Given the description of an element on the screen output the (x, y) to click on. 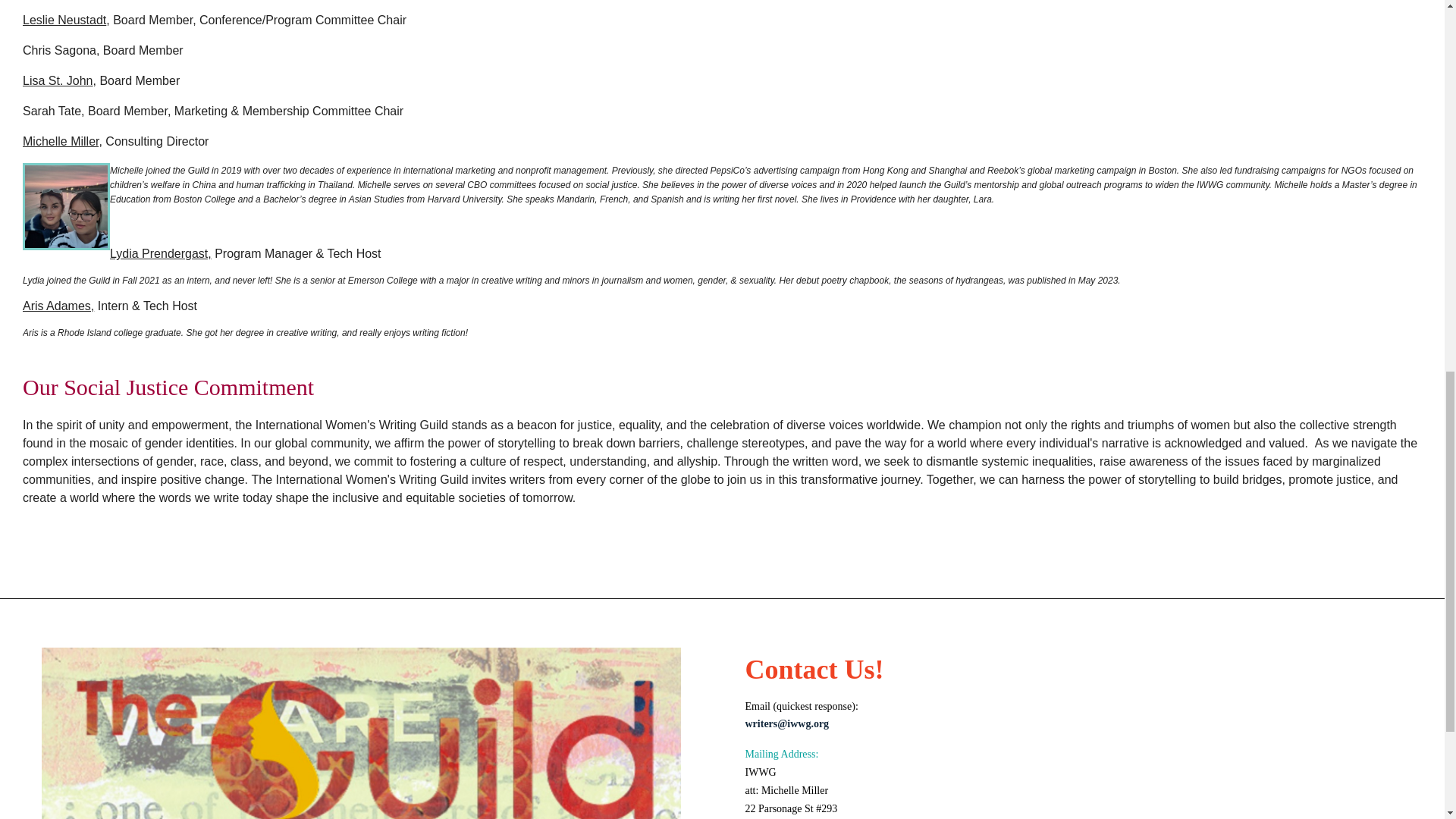
Lydia Prendergast, (160, 253)
Michelle Miller, (62, 141)
Leslie Neustadt (64, 19)
Lisa St. John (58, 80)
